Given the description of an element on the screen output the (x, y) to click on. 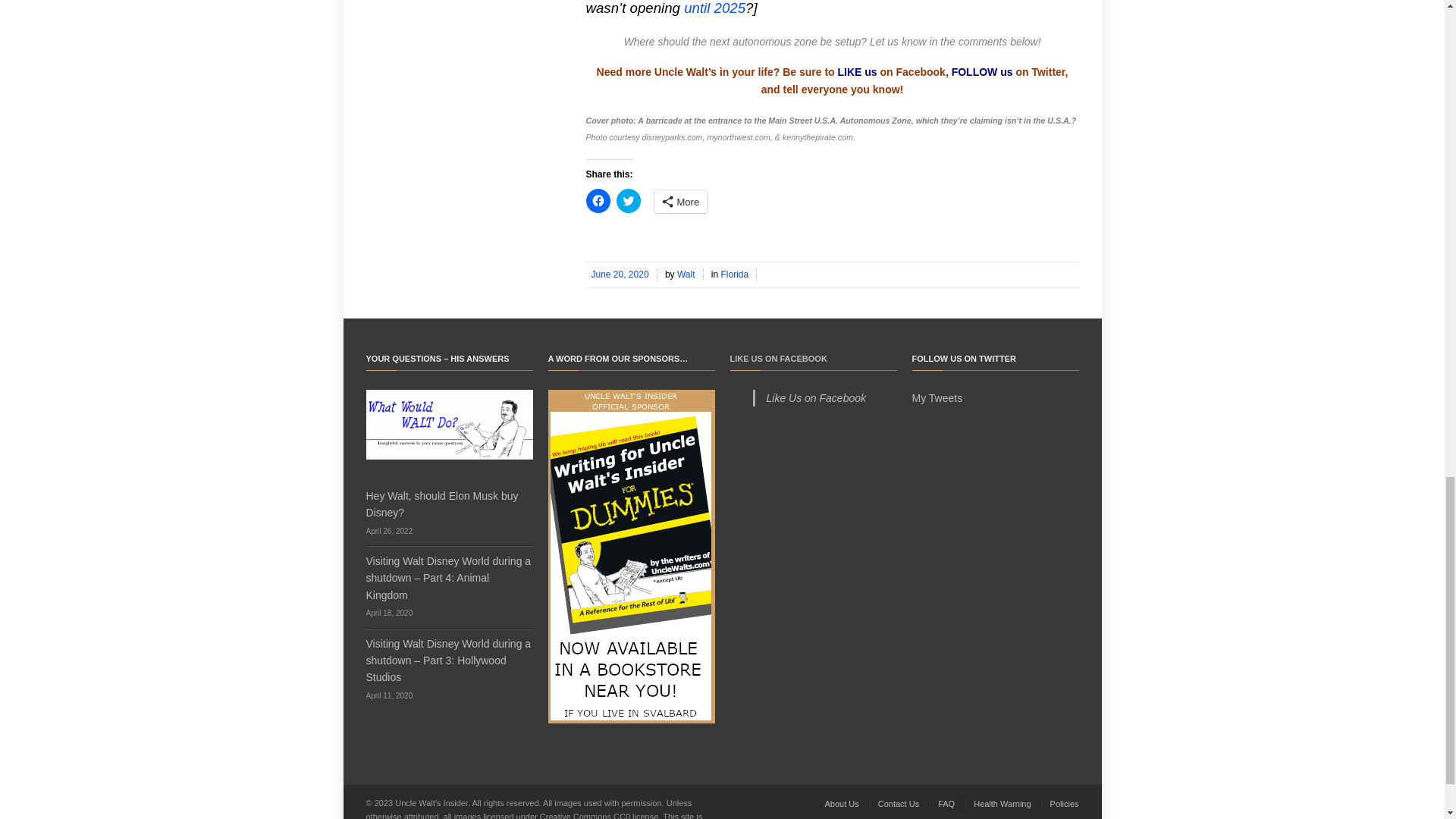
Walt (687, 274)
More (680, 201)
FOLLOW us (982, 71)
June 20, 2020 (620, 274)
LIKE US ON FACEBOOK (778, 358)
Click to share on Twitter (627, 200)
My Tweets (936, 398)
until 2025 (714, 7)
Hey Walt, should Elon Musk buy Disney? (441, 503)
Florida (735, 274)
